Given the description of an element on the screen output the (x, y) to click on. 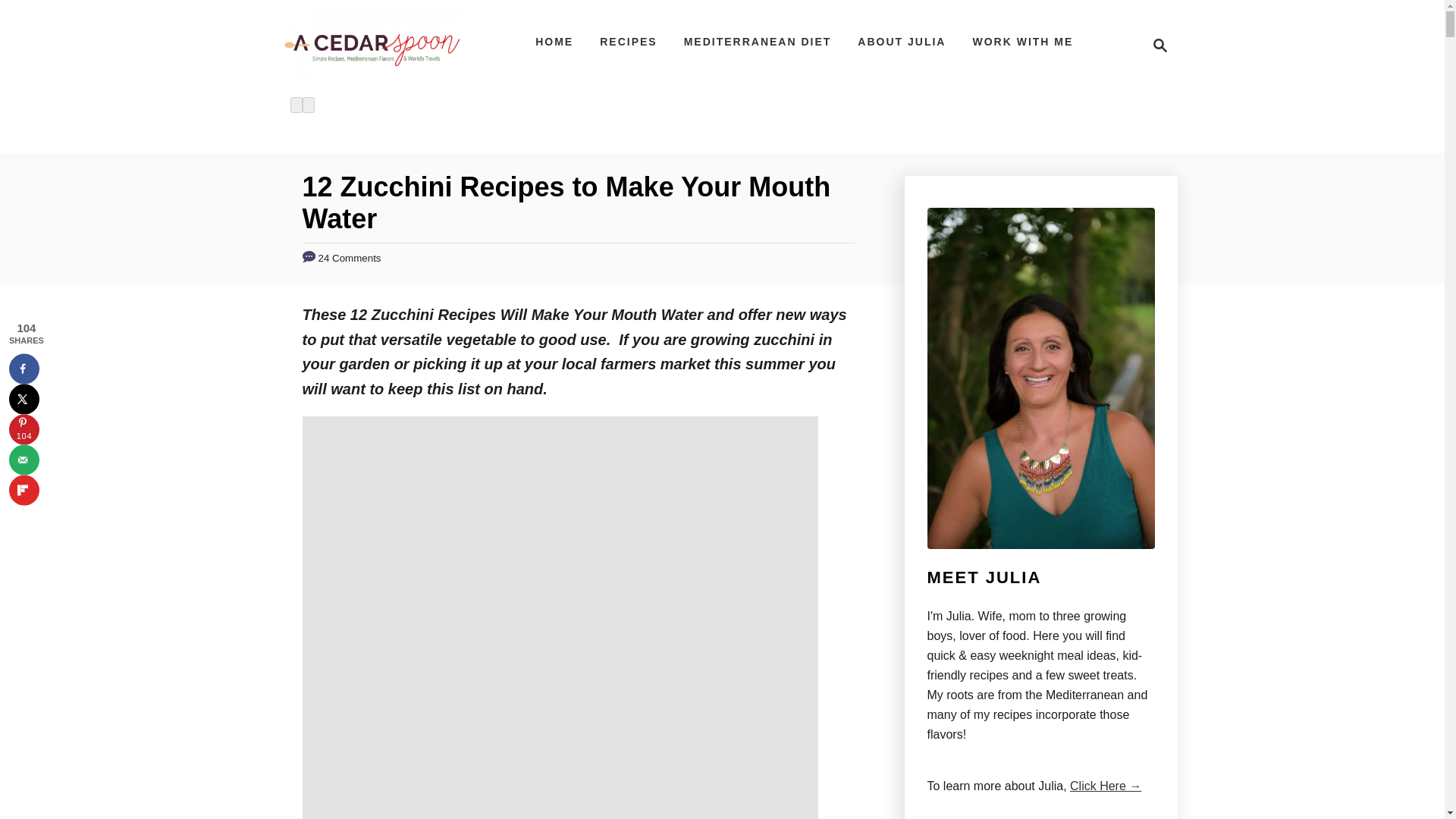
Share on Facebook (23, 368)
MEDITERRANEAN DIET (758, 41)
RECIPES (627, 41)
Share on X (23, 399)
A Cedar Spoon (371, 45)
HOME (553, 41)
Magnifying Glass (1160, 45)
ABOUT JULIA (901, 41)
WORK WITH ME (1155, 45)
